Given the description of an element on the screen output the (x, y) to click on. 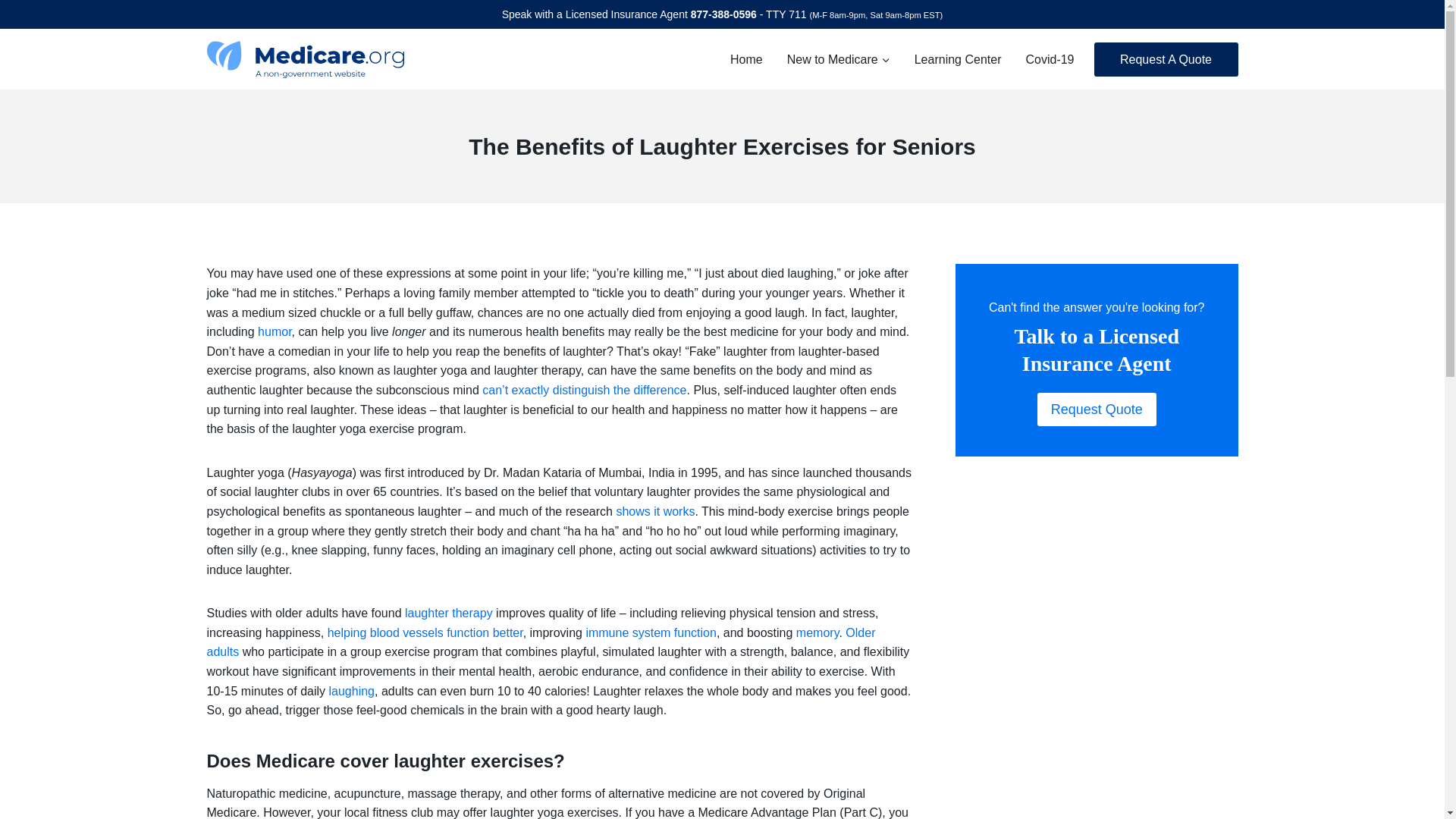
memory (818, 632)
Older adults (540, 642)
Learning Center (957, 59)
humor (274, 331)
Covid-19 (1049, 59)
laughing (351, 690)
Request A Quote (1165, 59)
immune system function (650, 632)
laughter therapy (448, 612)
shows it works (654, 511)
